Given the description of an element on the screen output the (x, y) to click on. 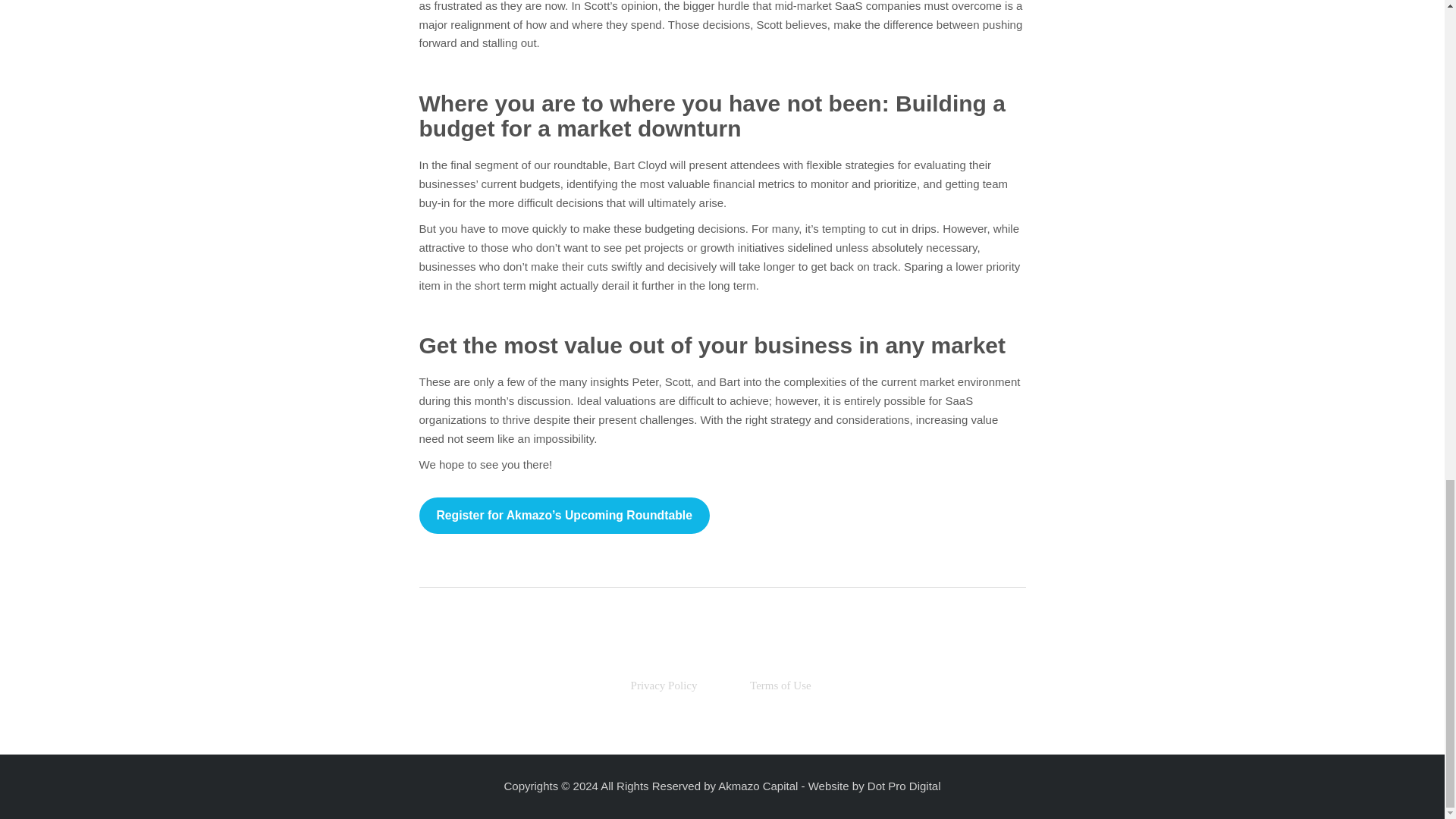
Privacy Policy (662, 685)
Terms of Use (780, 685)
Dot Pro Digital (903, 785)
